Given the description of an element on the screen output the (x, y) to click on. 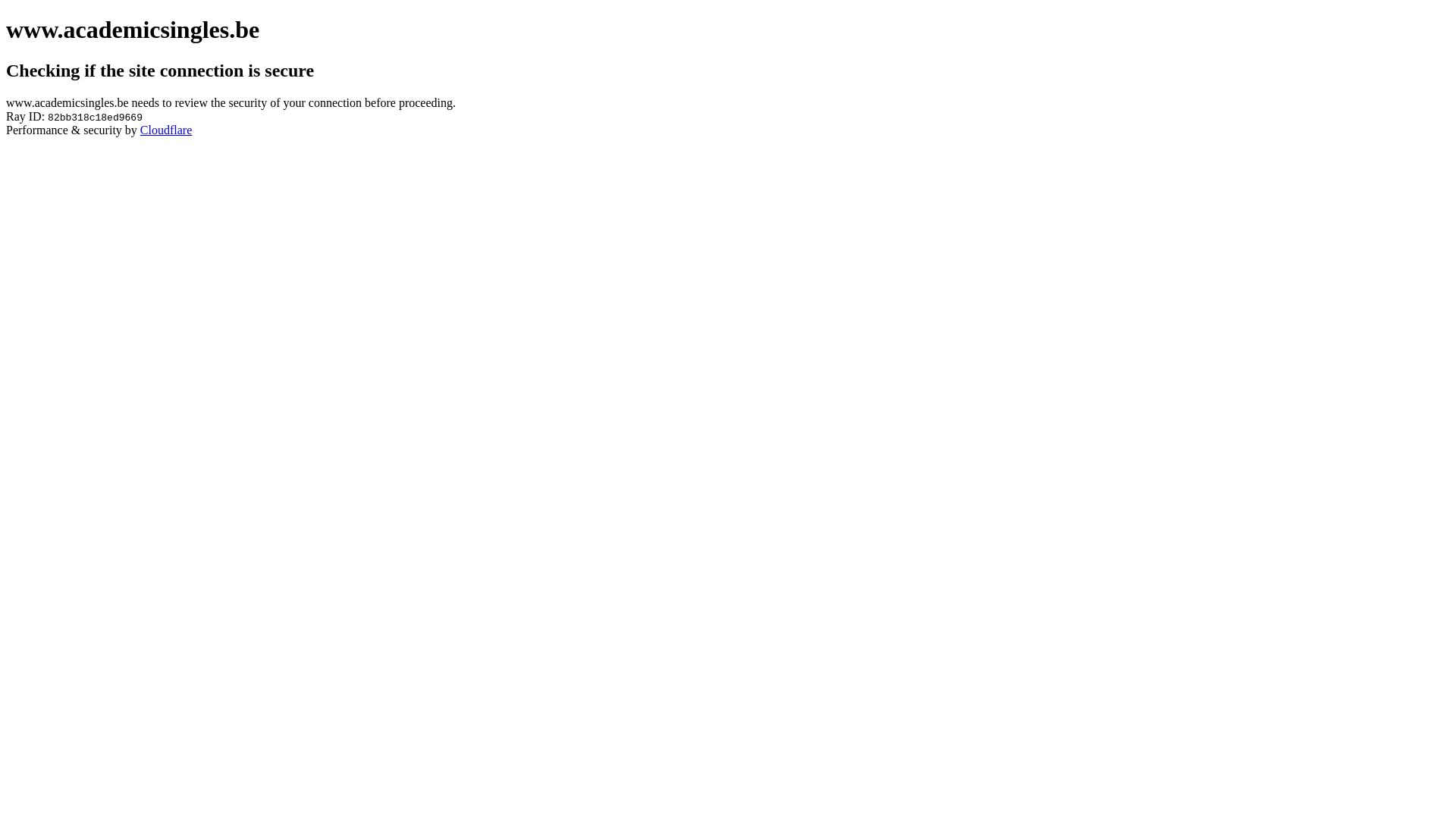
Cloudflare Element type: text (165, 129)
